Given the description of an element on the screen output the (x, y) to click on. 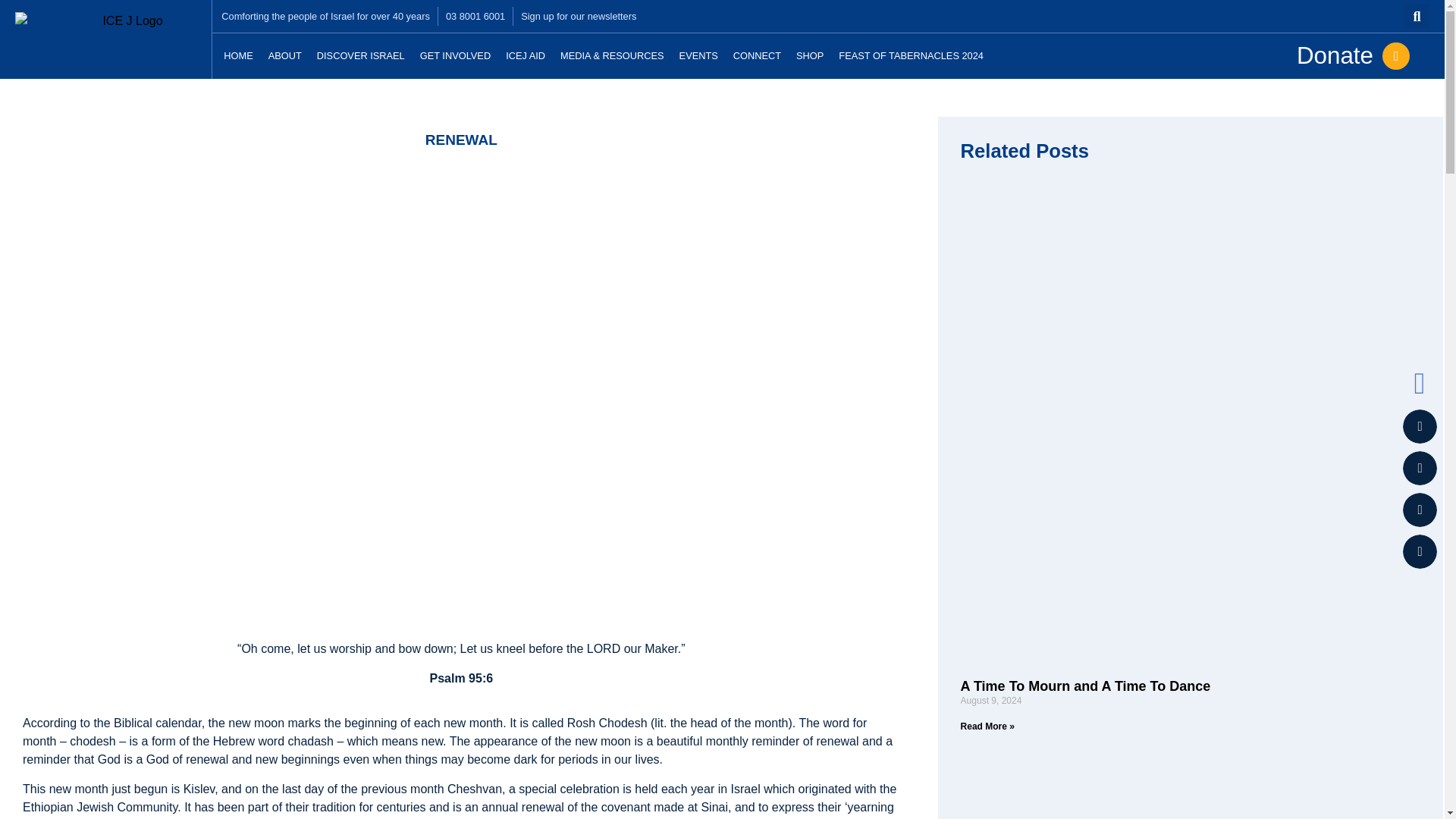
DISCOVER ISRAEL (360, 55)
FEAST OF TABERNACLES 2024 (911, 55)
ICEJ AID (525, 55)
SHOP (810, 55)
Sign up for our newsletters (578, 16)
EVENTS (698, 55)
HOME (237, 55)
GET INVOLVED (454, 55)
CONNECT (757, 55)
ABOUT (284, 55)
